Given the description of an element on the screen output the (x, y) to click on. 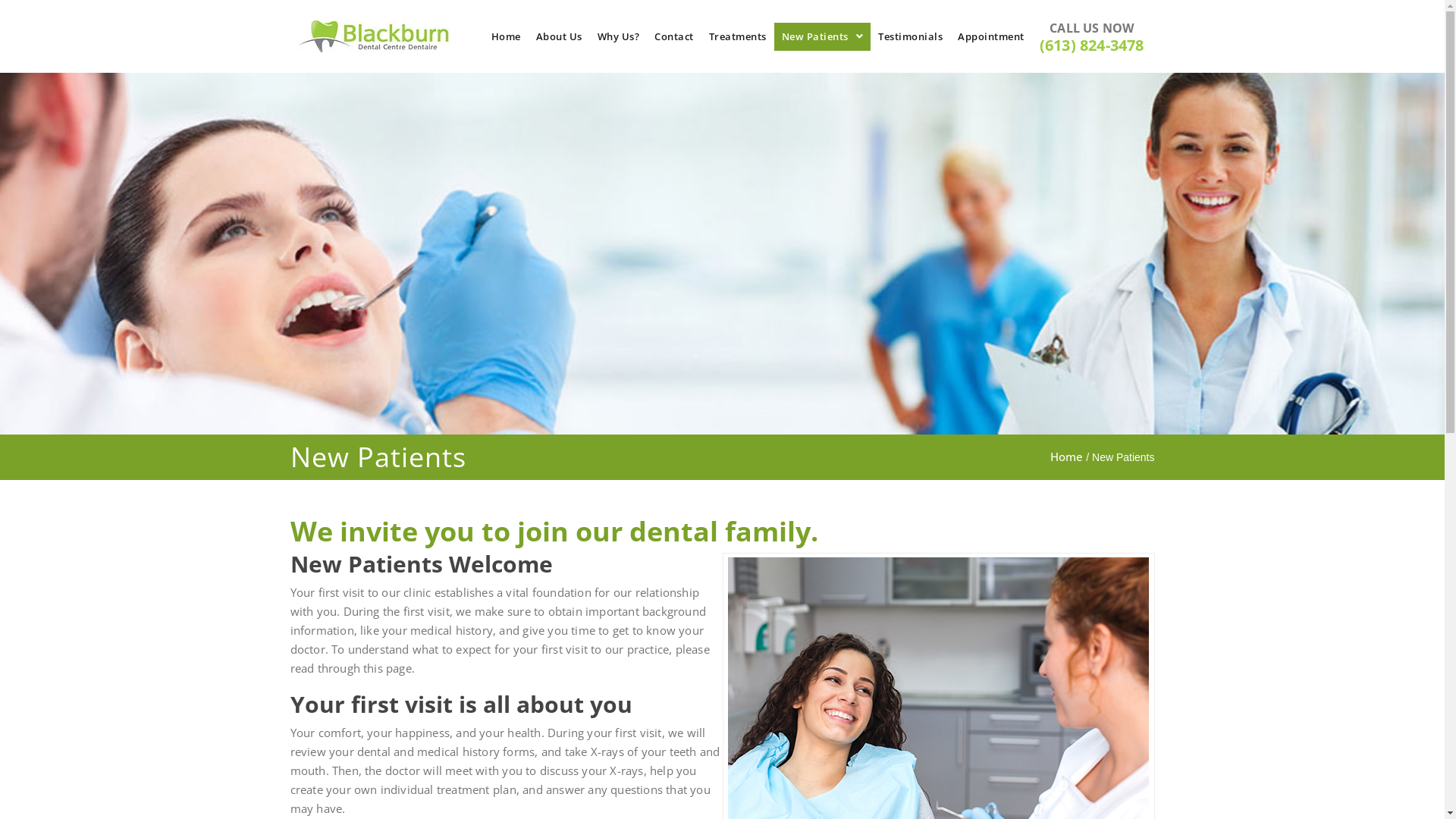
Testimonials Element type: text (910, 36)
New Patients Element type: text (822, 36)
About Us Element type: text (558, 36)
Appointment Element type: text (991, 36)
Contact Element type: text (673, 36)
Home Element type: text (505, 36)
Home Element type: text (1066, 456)
Treatments Element type: text (737, 36)
Why Us? Element type: text (618, 36)
